Given the description of an element on the screen output the (x, y) to click on. 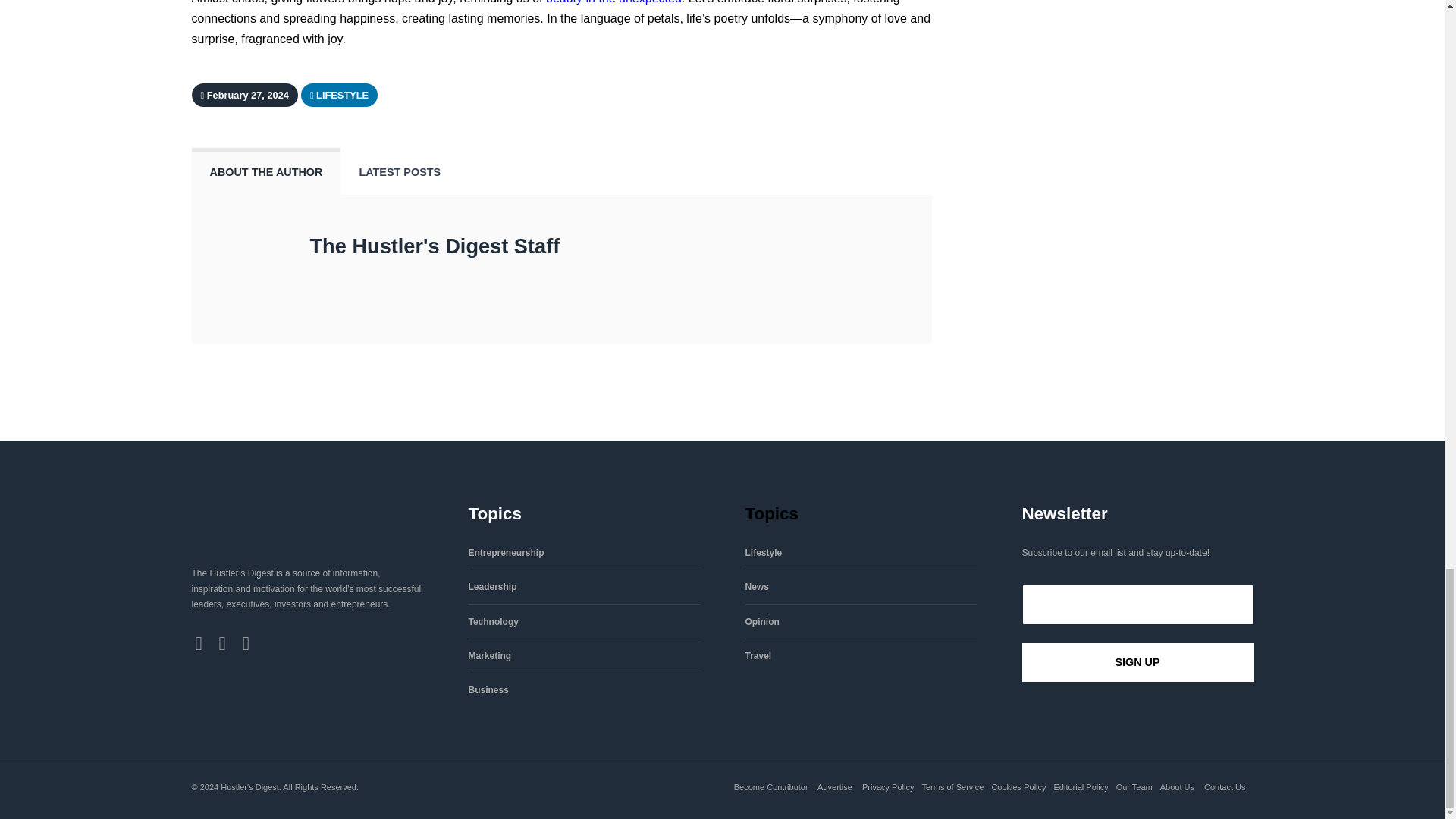
beauty in the unexpected (613, 2)
sign up (1137, 661)
LATEST POSTS (399, 172)
ABOUT THE AUTHOR (265, 172)
The Hustler's Digest Staff (433, 245)
LIFESTYLE (340, 93)
